Given the description of an element on the screen output the (x, y) to click on. 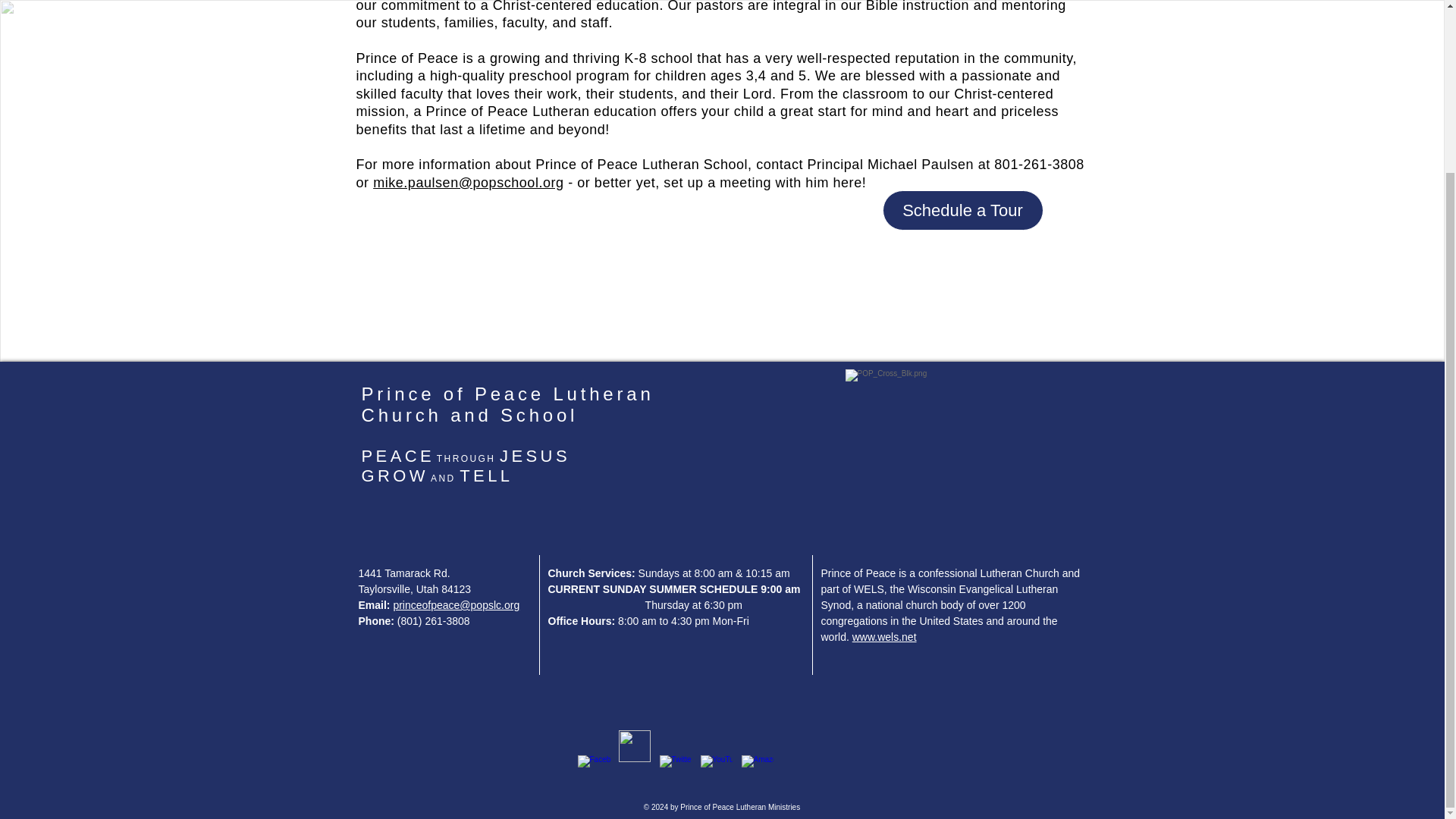
www.wels.net (884, 636)
Schedule a Tour (962, 210)
